Given the description of an element on the screen output the (x, y) to click on. 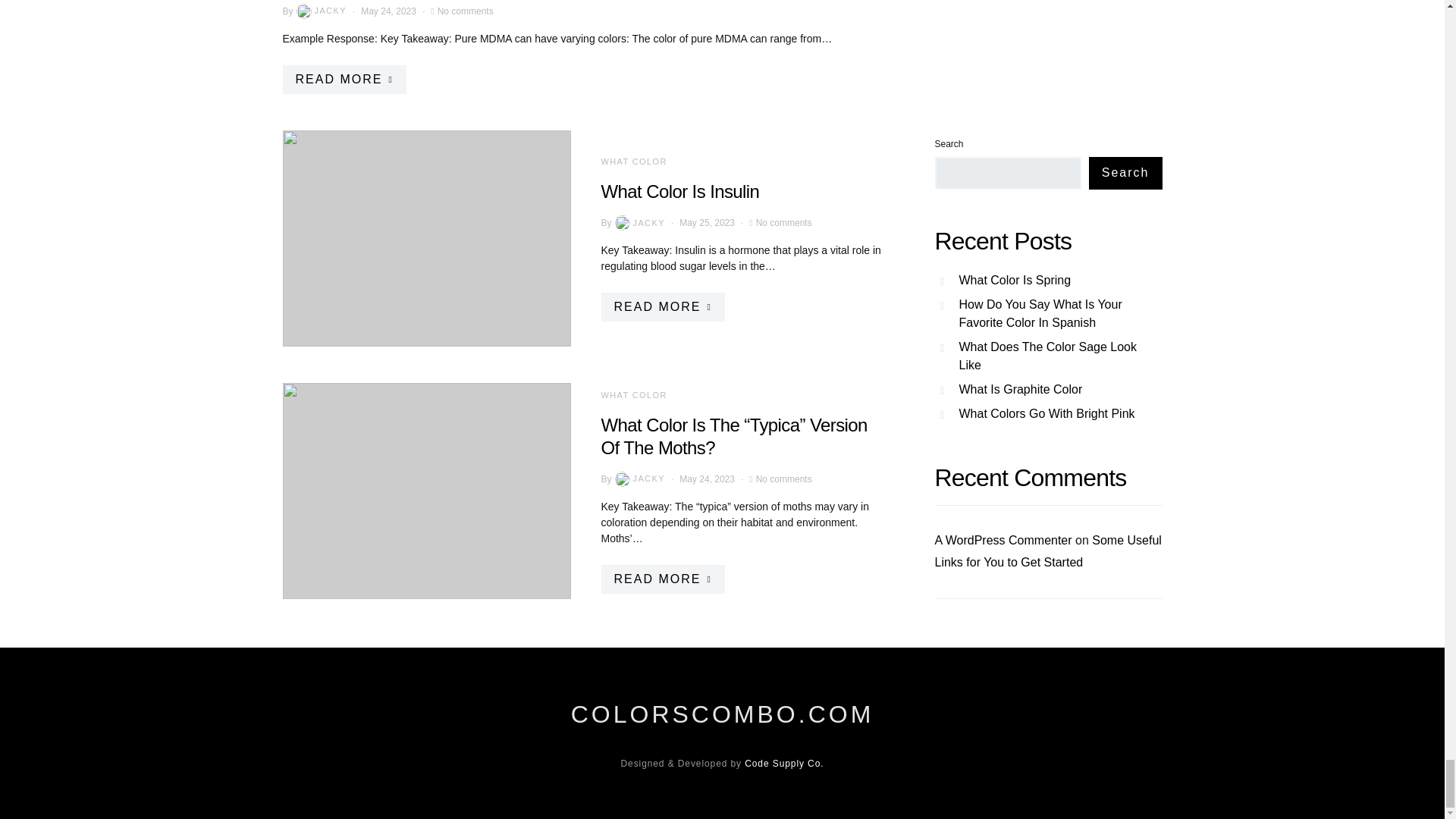
View all posts by Jacky (320, 10)
View all posts by Jacky (638, 478)
View all posts by Jacky (638, 222)
